Given the description of an element on the screen output the (x, y) to click on. 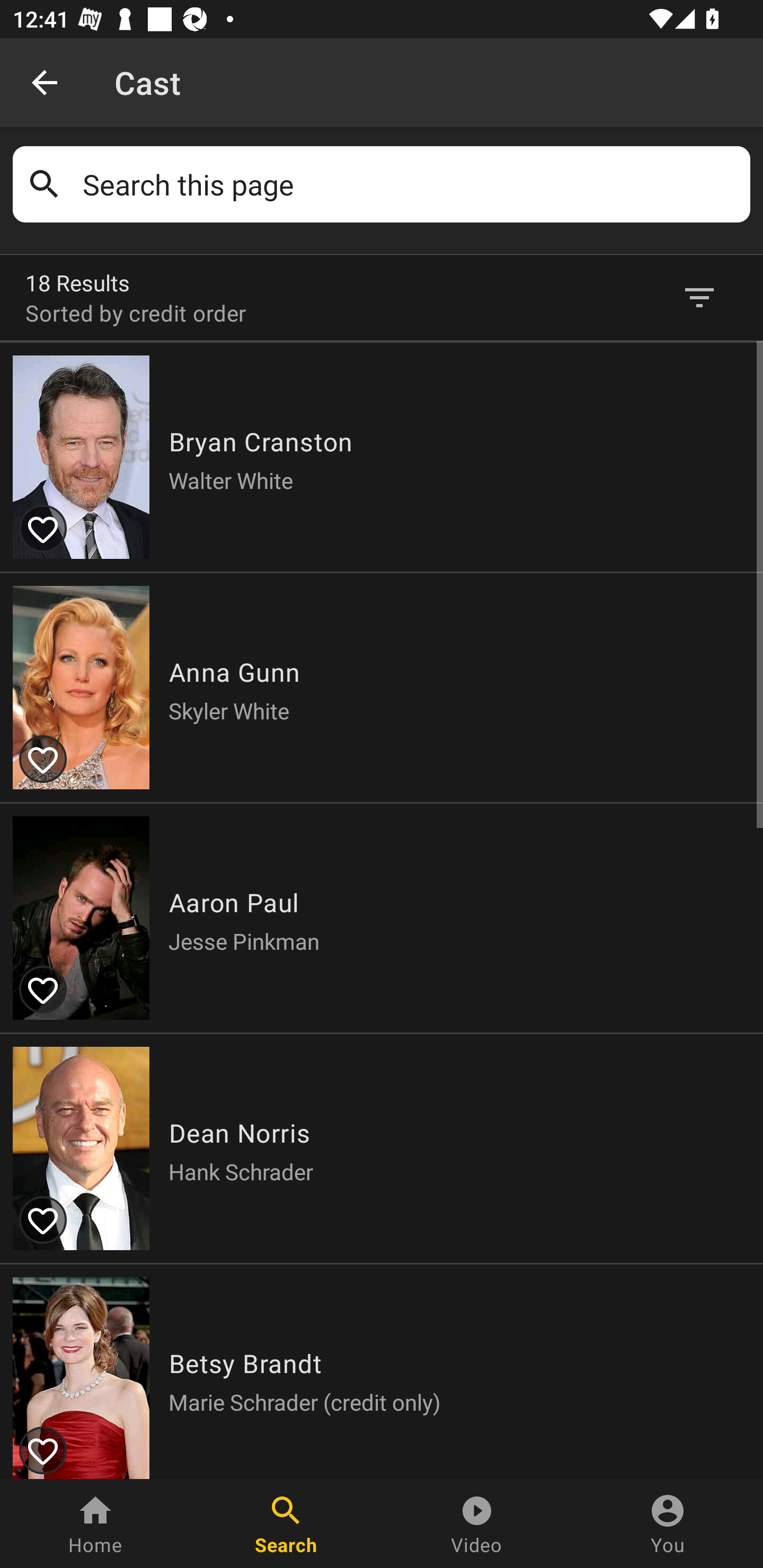
Search this page (410, 184)
Bryan Cranston Walter White (381, 456)
Anna Gunn Skyler White (381, 686)
Aaron Paul Jesse Pinkman (381, 916)
Dean Norris Hank Schrader (381, 1146)
Betsy Brandt Marie Schrader (credit only) (381, 1370)
Home (95, 1523)
Video (476, 1523)
You (667, 1523)
